Given the description of an element on the screen output the (x, y) to click on. 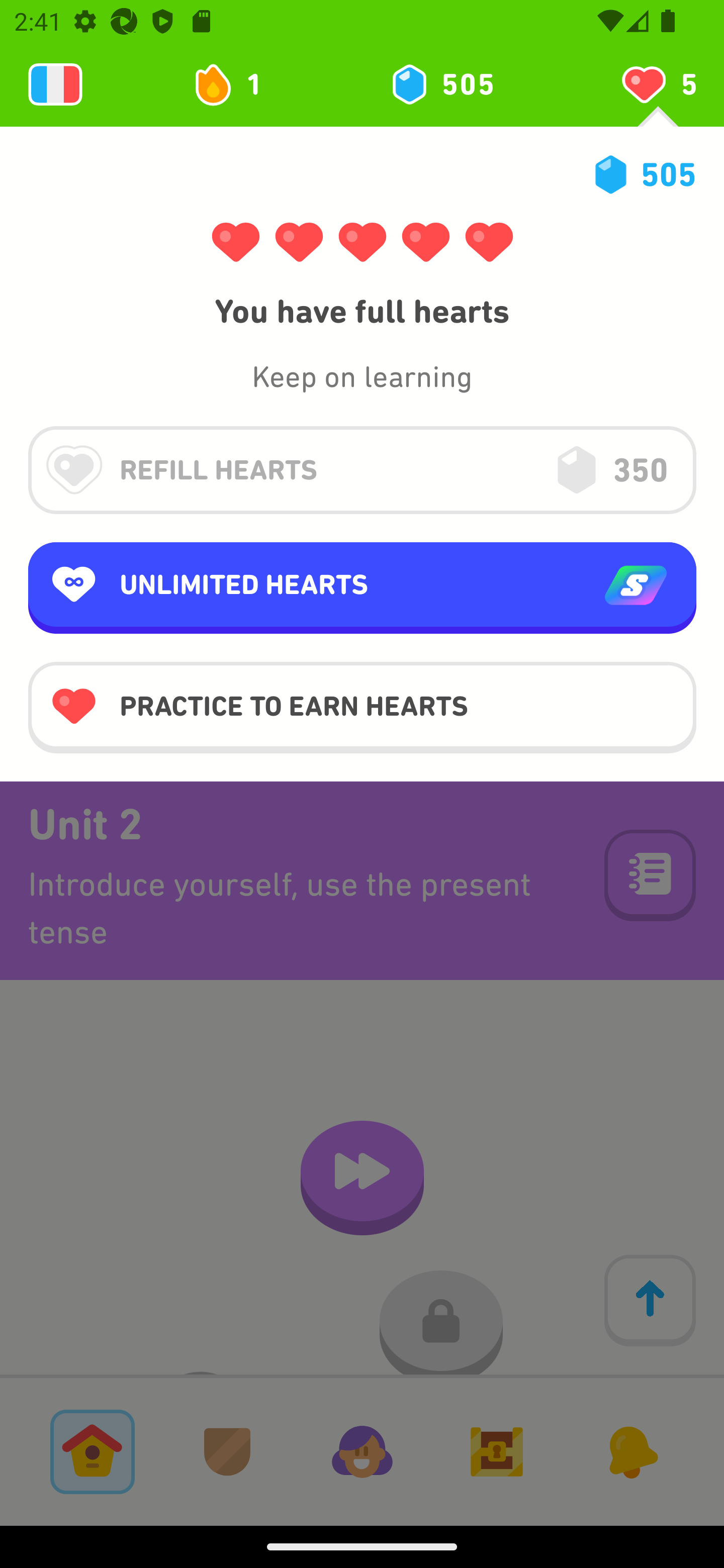
Learning 2131888976 (55, 84)
1 day streak 1 (236, 84)
505 (441, 84)
You have 5 hearts left 5 (657, 84)
Section 1: Rookie (362, 169)
UNLIMITED HEARTS (362, 587)
PRACTICE TO EARN HEARTS (362, 706)
